Given the description of an element on the screen output the (x, y) to click on. 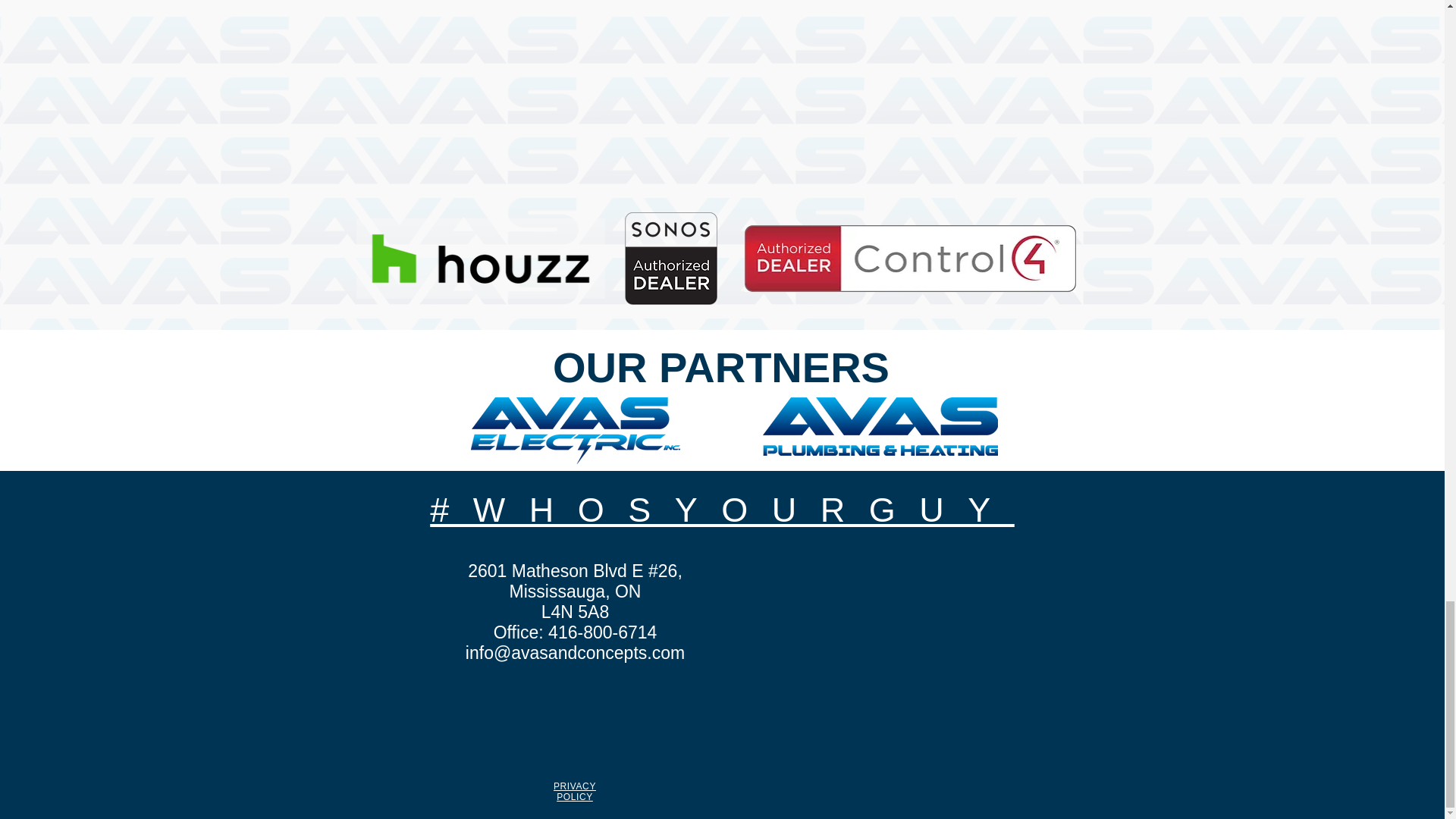
Avas Plumbing.png (879, 426)
PRIVACY POLICY (574, 791)
Avas Electric.png (574, 430)
